Given the description of an element on the screen output the (x, y) to click on. 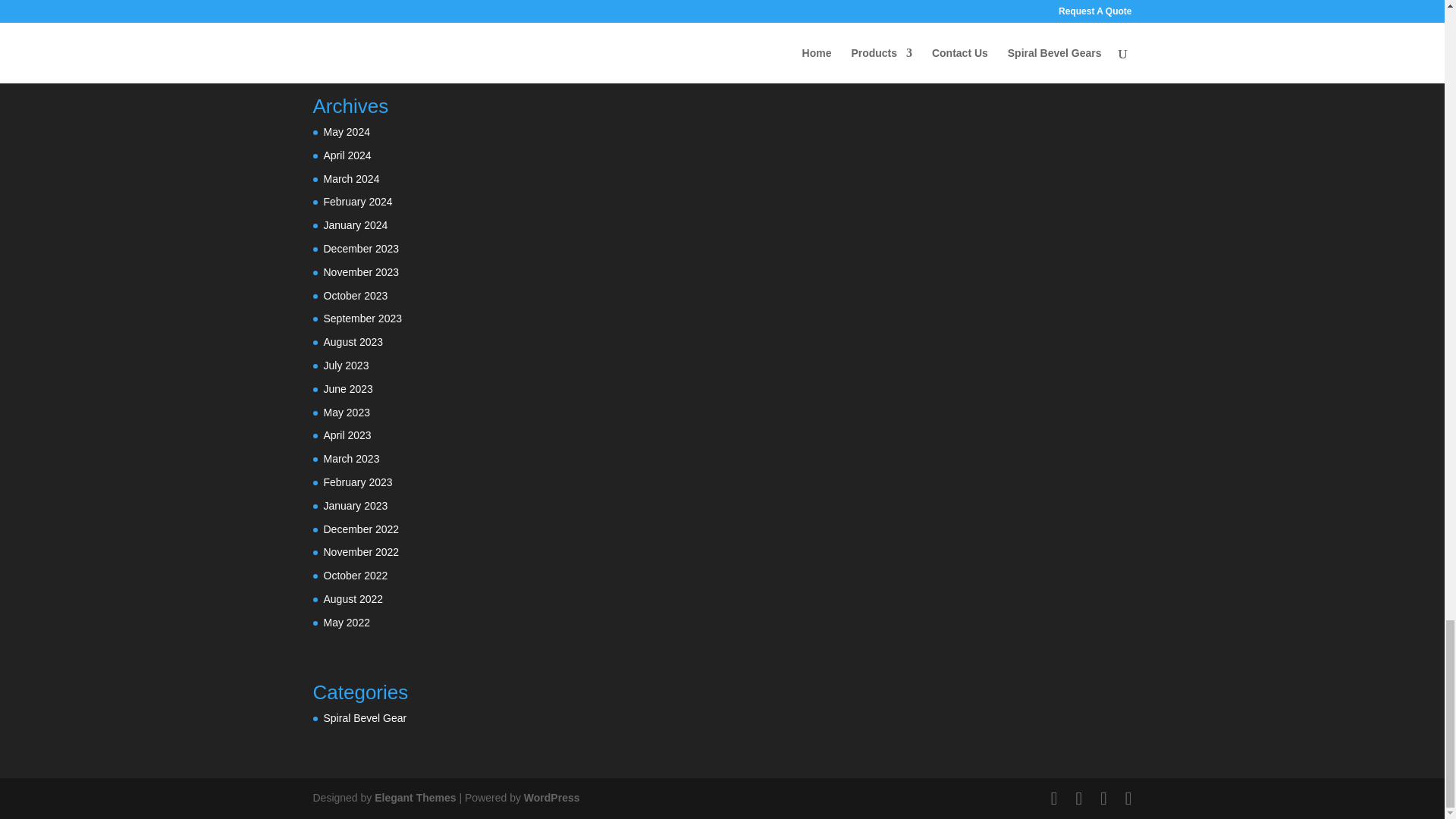
Premium WordPress Themes (414, 797)
